Given the description of an element on the screen output the (x, y) to click on. 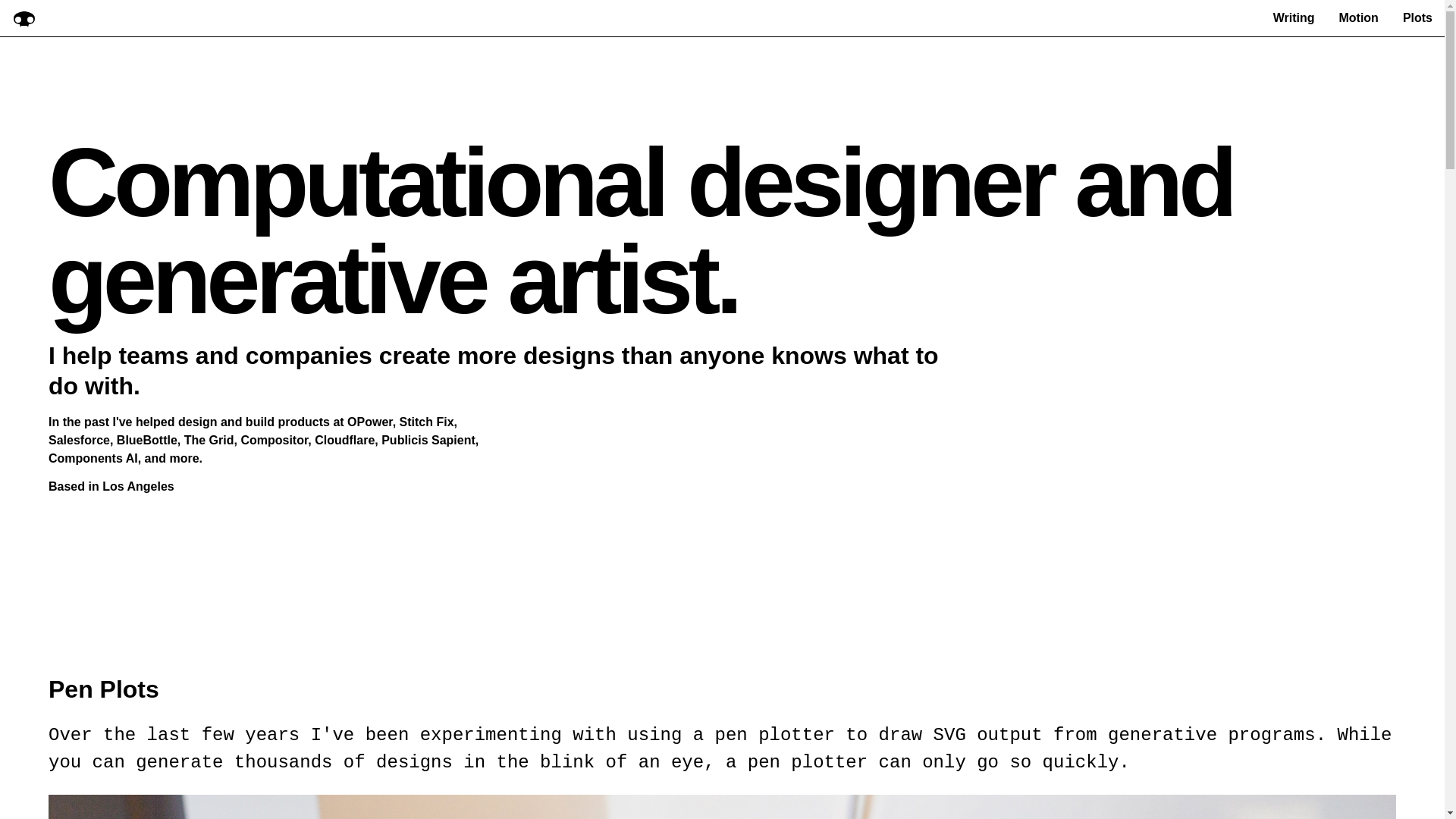
Writing Element type: text (1293, 18)
@mrmrs homepage Element type: hover (24, 18)
Plots Element type: text (1417, 18)
Motion Element type: text (1357, 18)
